Given the description of an element on the screen output the (x, y) to click on. 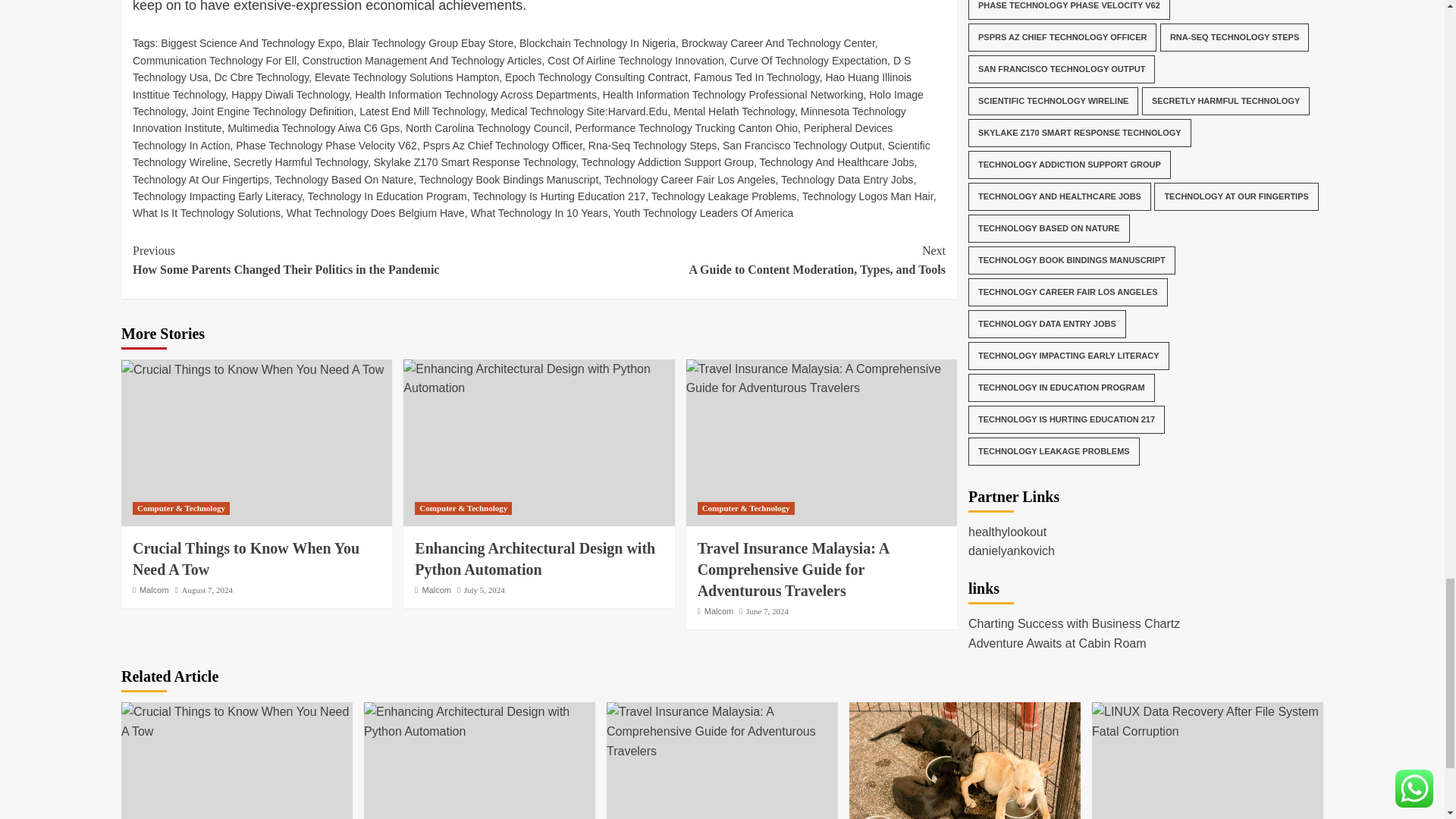
Blair Technology Group Ebay Store (430, 42)
Hao Huang Illinois Insttitue Technology (521, 85)
Happy Diwali Technology (290, 94)
Elevate Technology Solutions Hampton (406, 77)
D S Technology Usa (521, 68)
Blockchain Technology In Nigeria (597, 42)
Biggest Science And Technology Expo (251, 42)
Epoch Technology Consulting Contract (596, 77)
Brockway Career And Technology Center (778, 42)
Communication Technology For Ell (214, 60)
Famous Ted In Technology (756, 77)
Crucial Things to Know When You Need A Tow (252, 370)
Construction Management And Technology Articles (421, 60)
Dc Cbre Technology (261, 77)
